Given the description of an element on the screen output the (x, y) to click on. 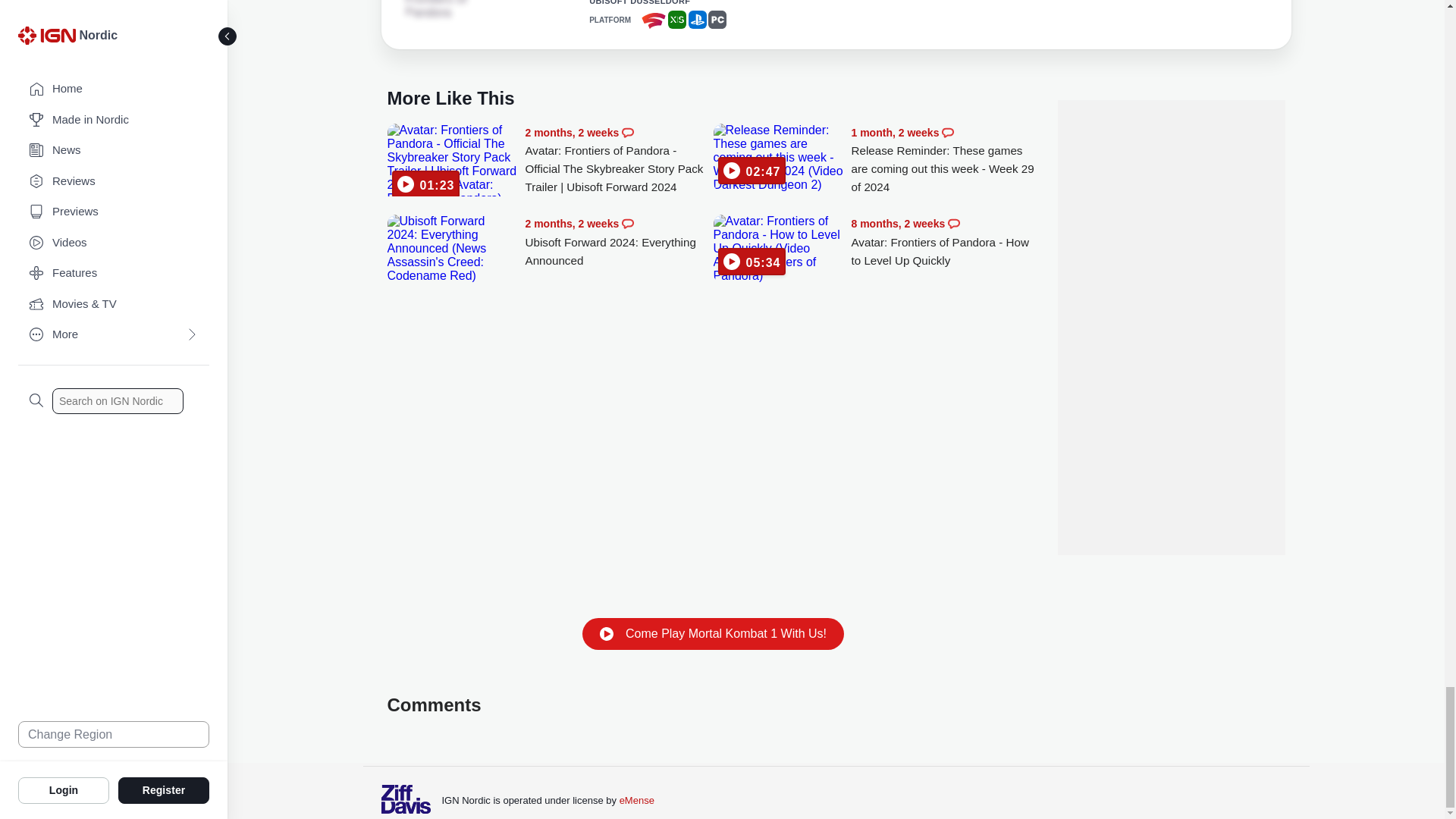
Ubisoft Forward 2024: Everything Announced (618, 242)
Avatar: Frontiers of Pandora - How to Level Up Quickly (778, 248)
XBOXSERIES (676, 19)
Ubisoft Forward 2024: Everything Announced (451, 248)
Avatar: Frontiers of Pandora (448, 9)
PC (716, 19)
Avatar: Frontiers of Pandora - How to Level Up Quickly (944, 242)
PS5 (697, 19)
